Given the description of an element on the screen output the (x, y) to click on. 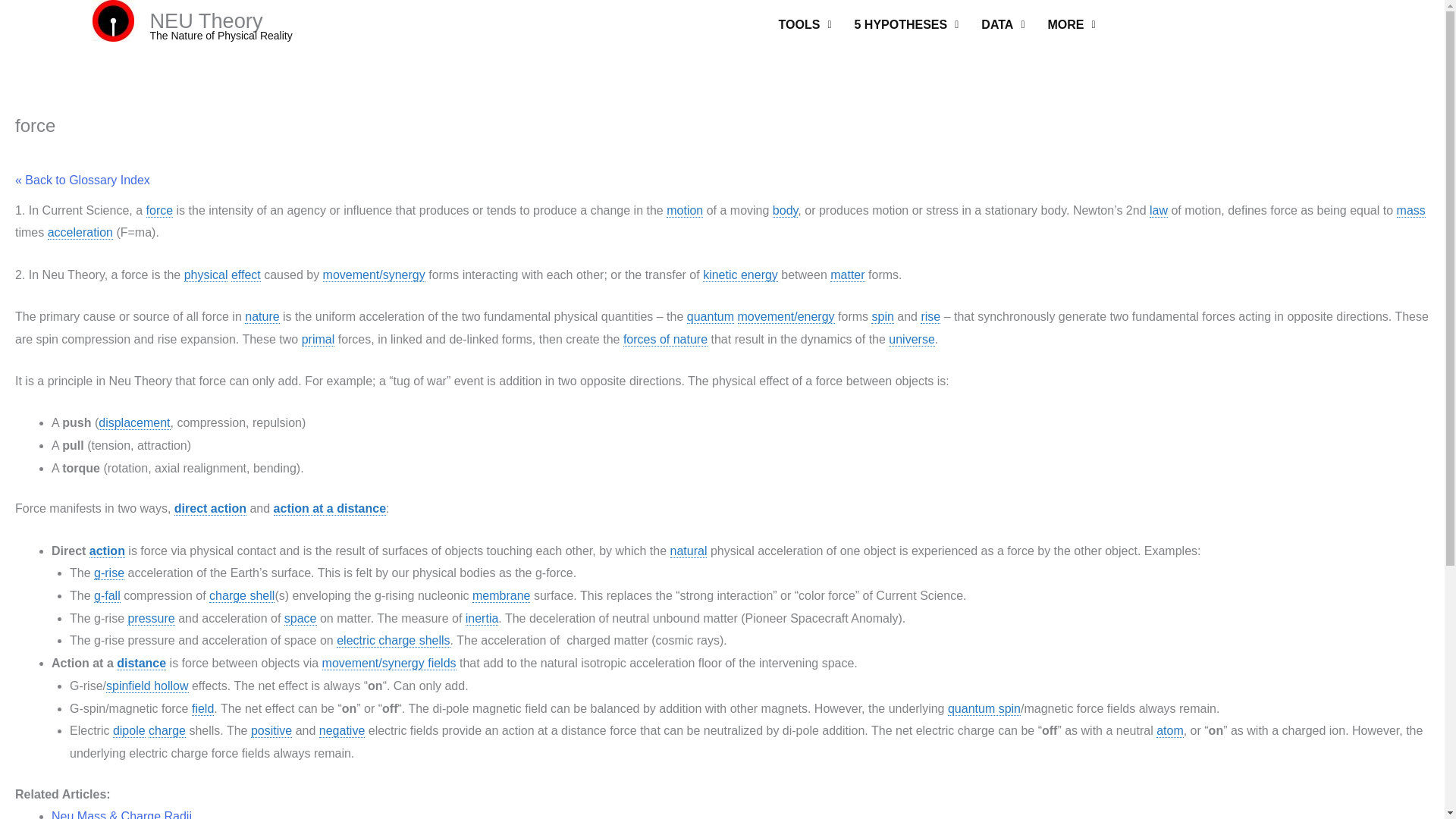
5 HYPOTHESES (907, 24)
TOOLS (805, 24)
Neu Theory (113, 20)
